Given the description of an element on the screen output the (x, y) to click on. 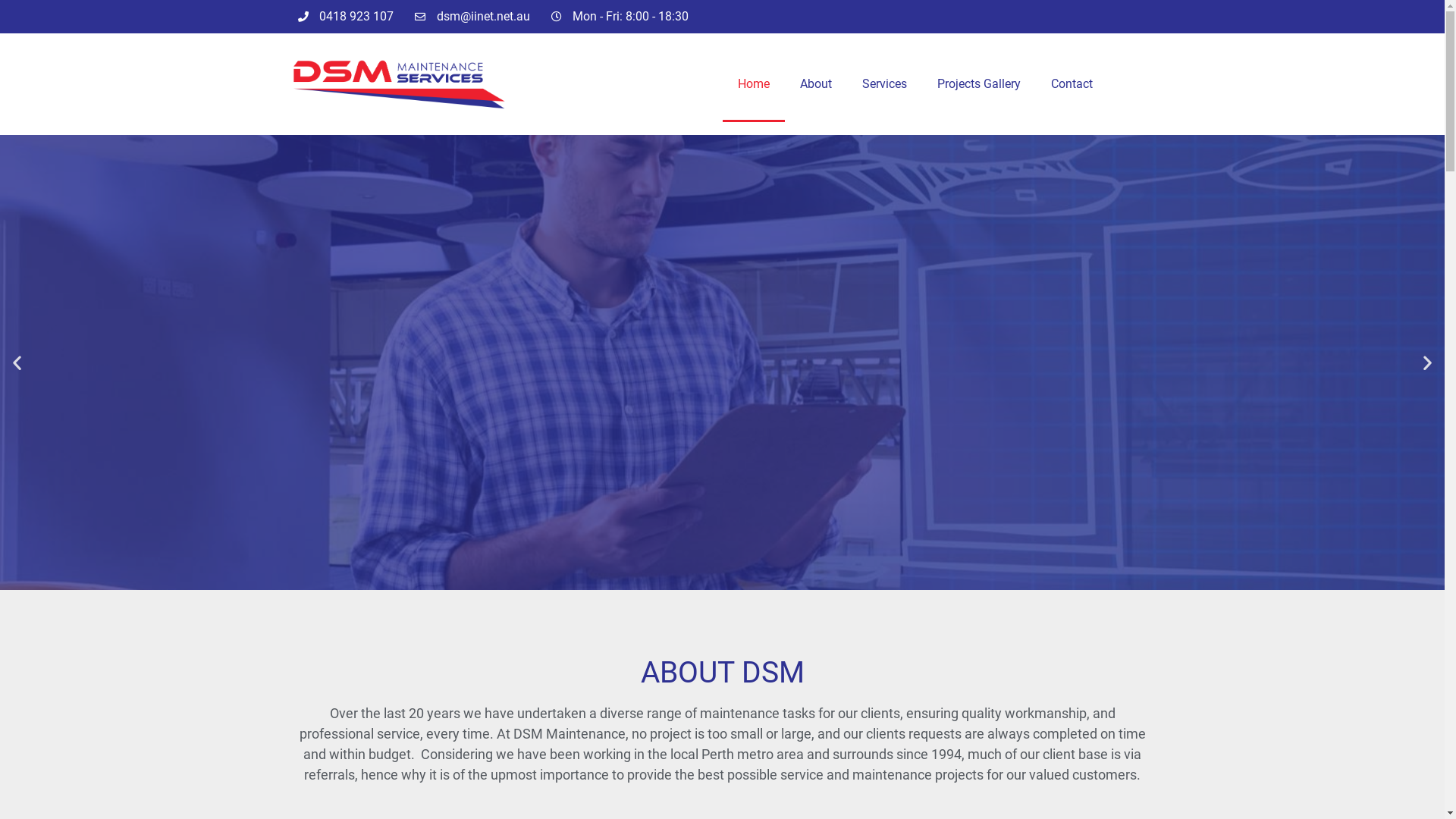
Services Element type: text (883, 84)
Projects Gallery Element type: text (978, 84)
Request Quote Element type: text (721, 429)
Home Element type: text (752, 84)
dsm@iinet.net.au Element type: text (472, 16)
Contact Element type: text (1071, 84)
0418 923 107 Element type: text (345, 16)
About Element type: text (815, 84)
